Given the description of an element on the screen output the (x, y) to click on. 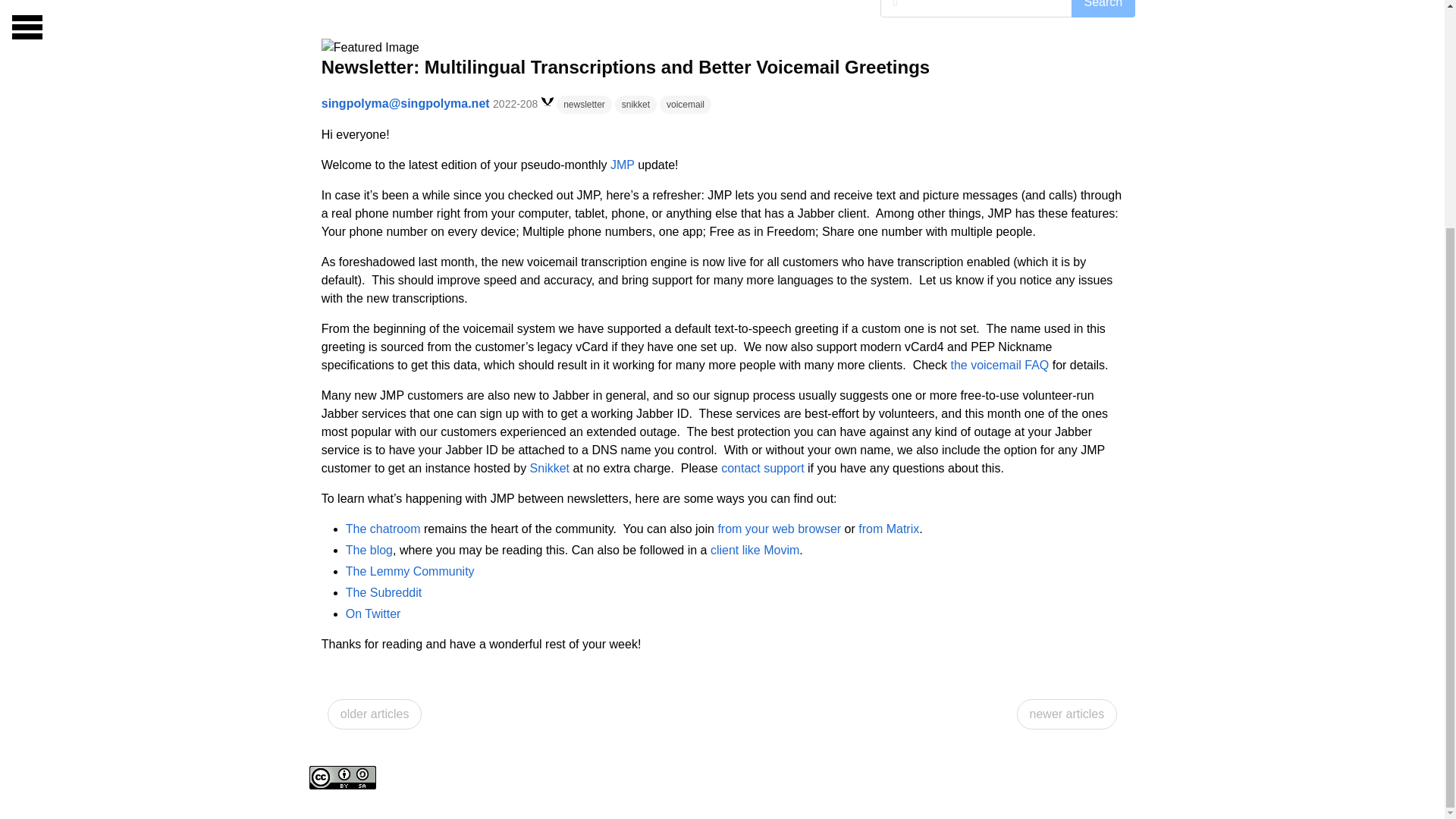
newsletter (583, 103)
snikket (635, 103)
from Matrix (888, 528)
The Subreddit (384, 592)
contact support (761, 468)
The blog (369, 549)
older articles (374, 714)
On Twitter (373, 613)
The chatroom (383, 528)
client like Movim (754, 549)
from your web browser (779, 528)
JMP (622, 164)
The Lemmy Community (410, 571)
Snikket (549, 468)
